Given the description of an element on the screen output the (x, y) to click on. 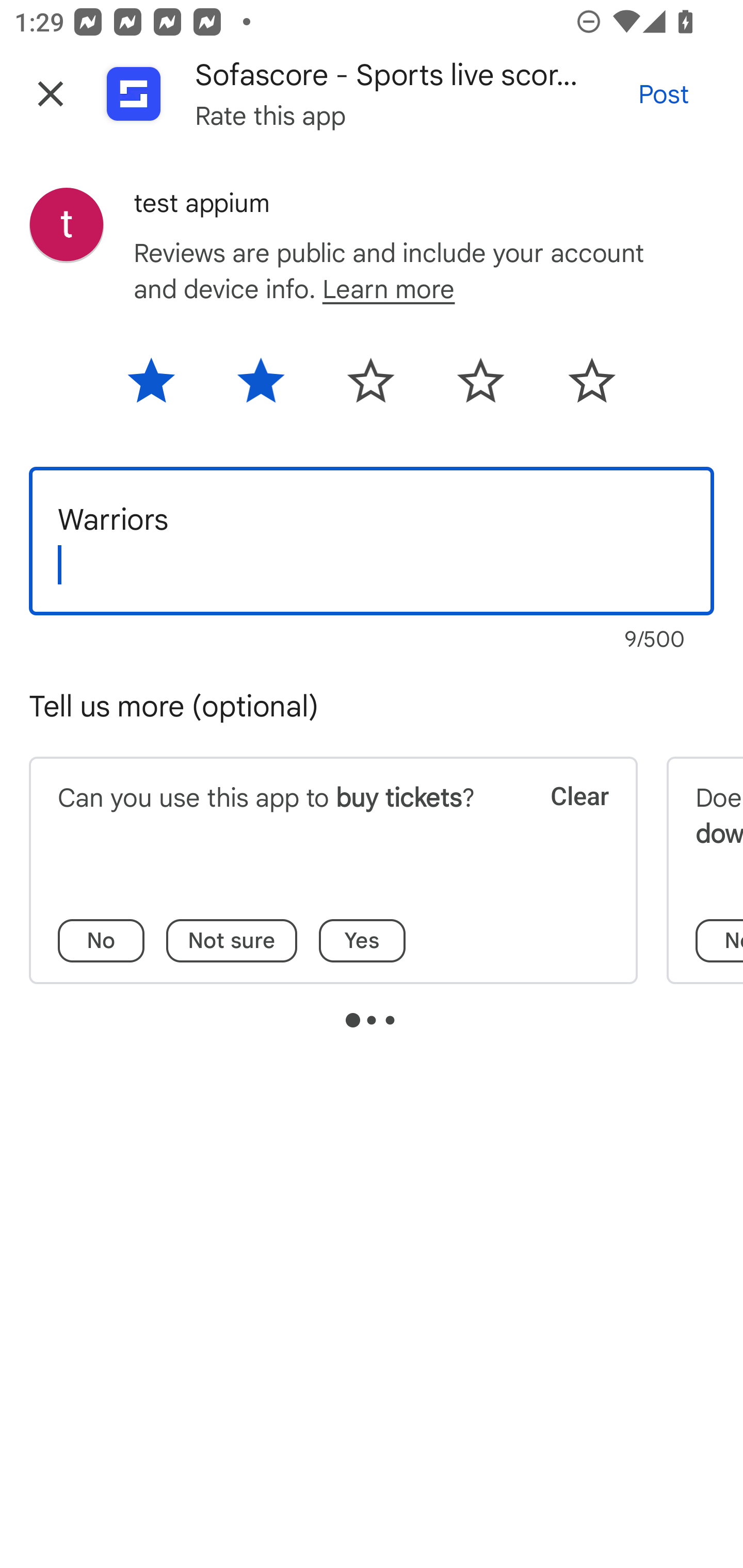
Close (50, 93)
Post (663, 93)
First star selected (163, 387)
Second star selected (260, 387)
Third star unselected (370, 387)
Fourth star unselected (480, 387)
Fifth star unselected (577, 387)
Warriors
 (371, 540)
Clear (565, 821)
No (100, 940)
Not sure (231, 940)
Yes (361, 940)
